Given the description of an element on the screen output the (x, y) to click on. 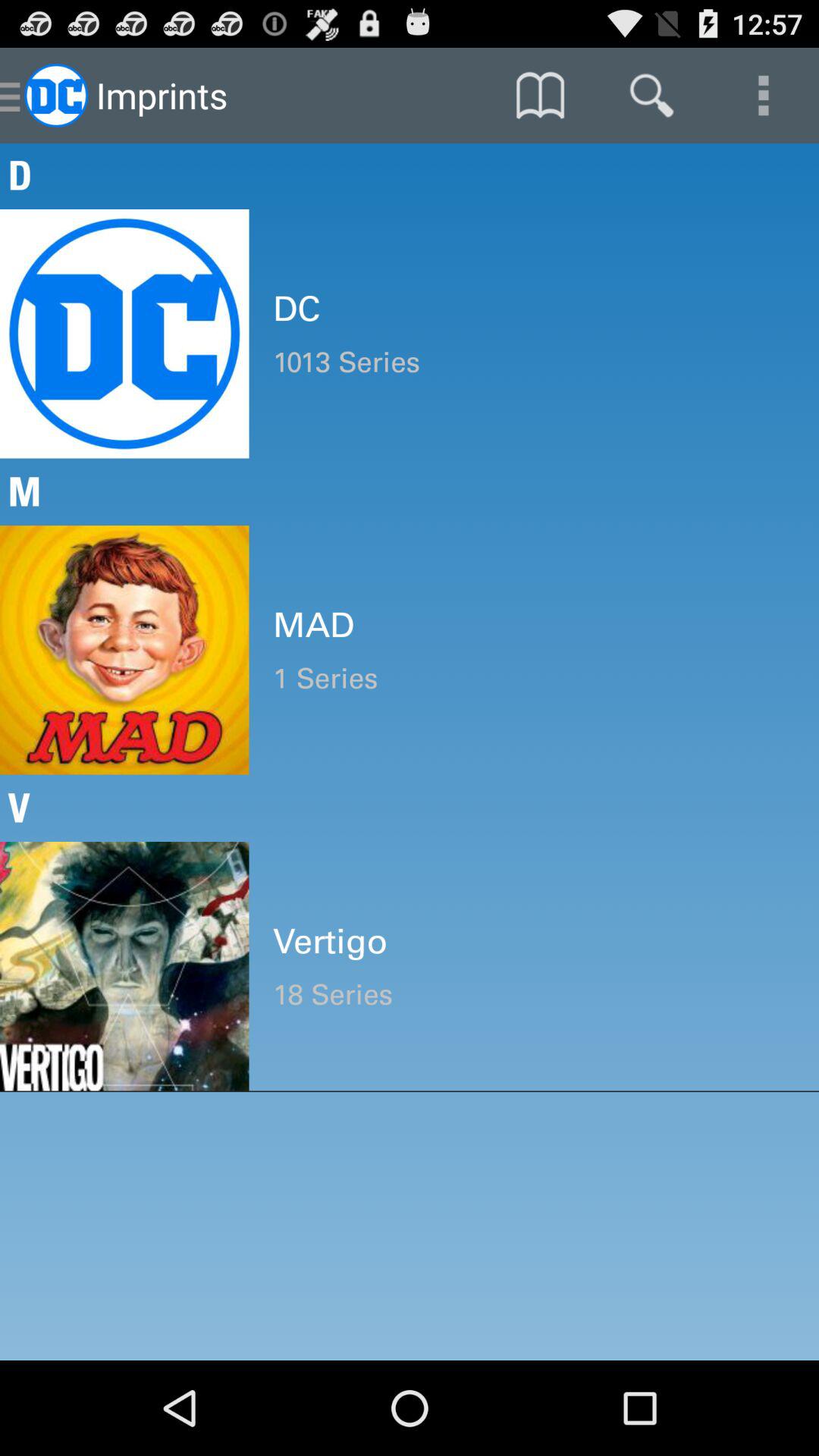
turn off icon above 18 series item (534, 940)
